Given the description of an element on the screen output the (x, y) to click on. 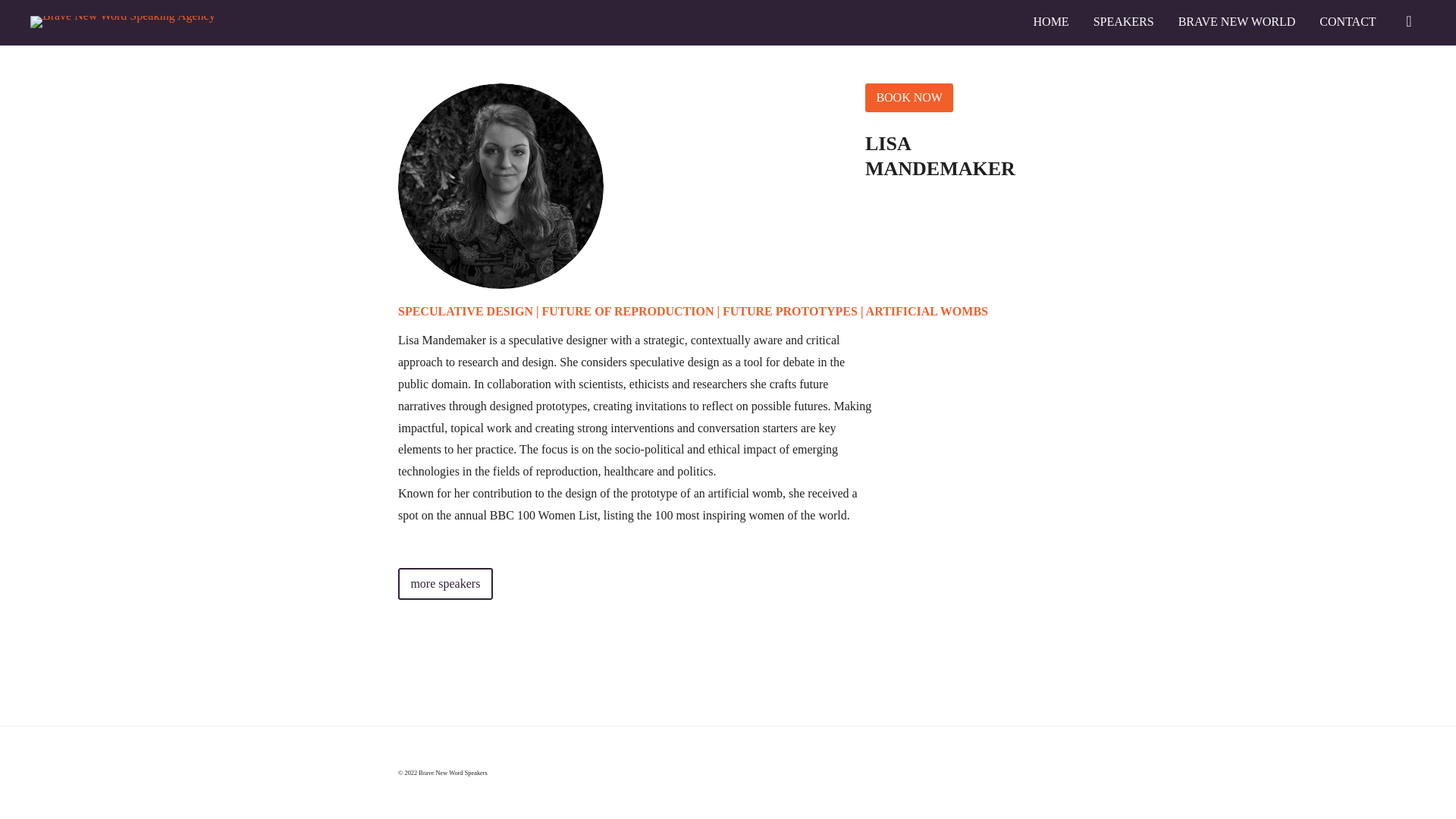
BRAVE NEW WORLD (1237, 21)
more speakers (445, 583)
Speakers (445, 583)
SPEAKERS (1122, 21)
BOOK NOW (908, 97)
CONTACT (1347, 21)
Zoeken (1408, 21)
Brave New Word Speaking Agency (122, 22)
HOME (1051, 21)
